Given the description of an element on the screen output the (x, y) to click on. 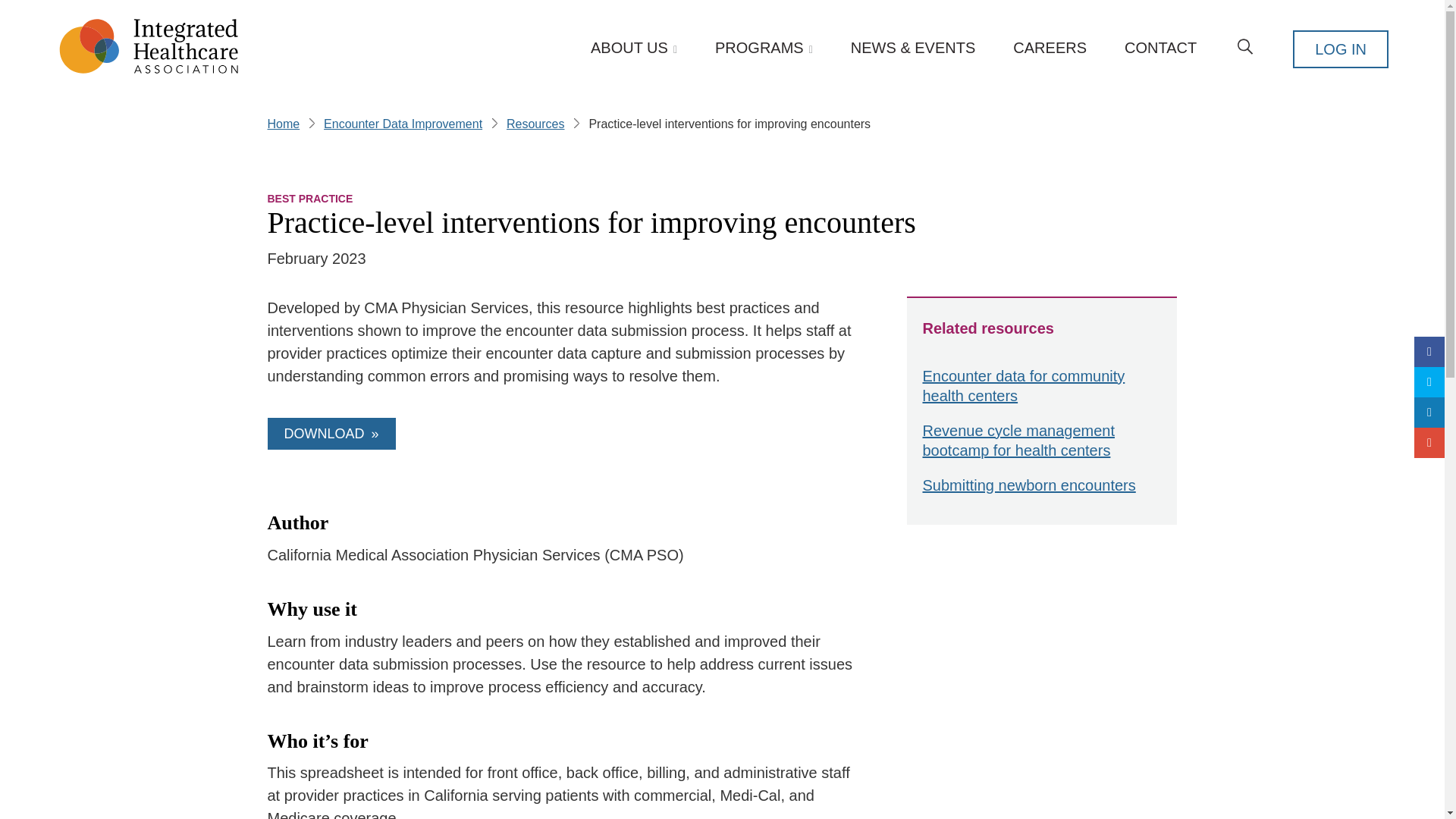
DOWNLOAD (330, 433)
SEARCH (1244, 48)
Resources (535, 125)
Encounter data for community health centers (1041, 389)
Revenue cycle management bootcamp for health centers (1041, 443)
ABOUT US (634, 48)
Encounter Data Improvement (402, 125)
CAREERS (1049, 47)
Home (282, 125)
PROGRAMS (763, 48)
